Given the description of an element on the screen output the (x, y) to click on. 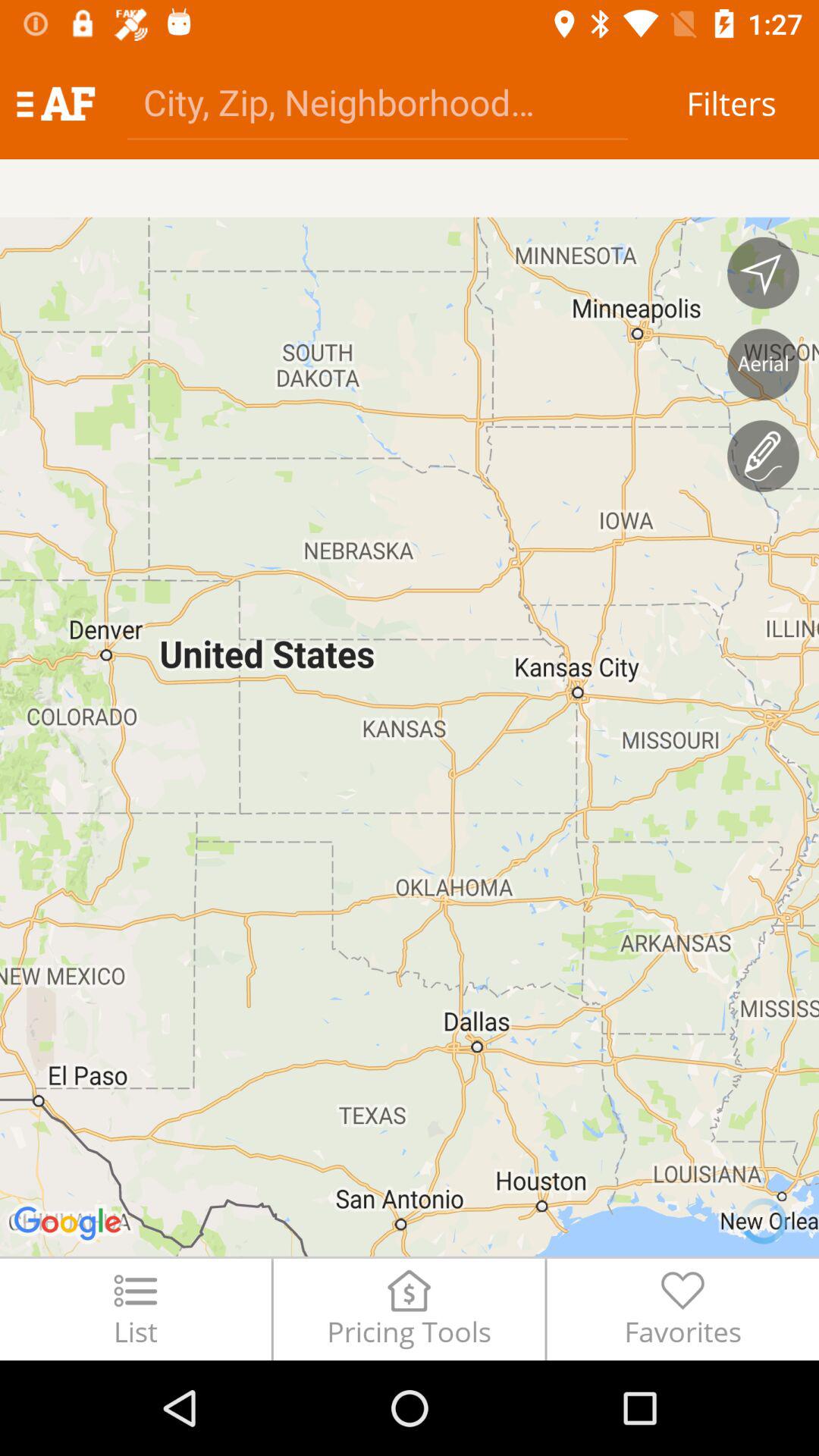
flip until filters item (731, 103)
